Given the description of an element on the screen output the (x, y) to click on. 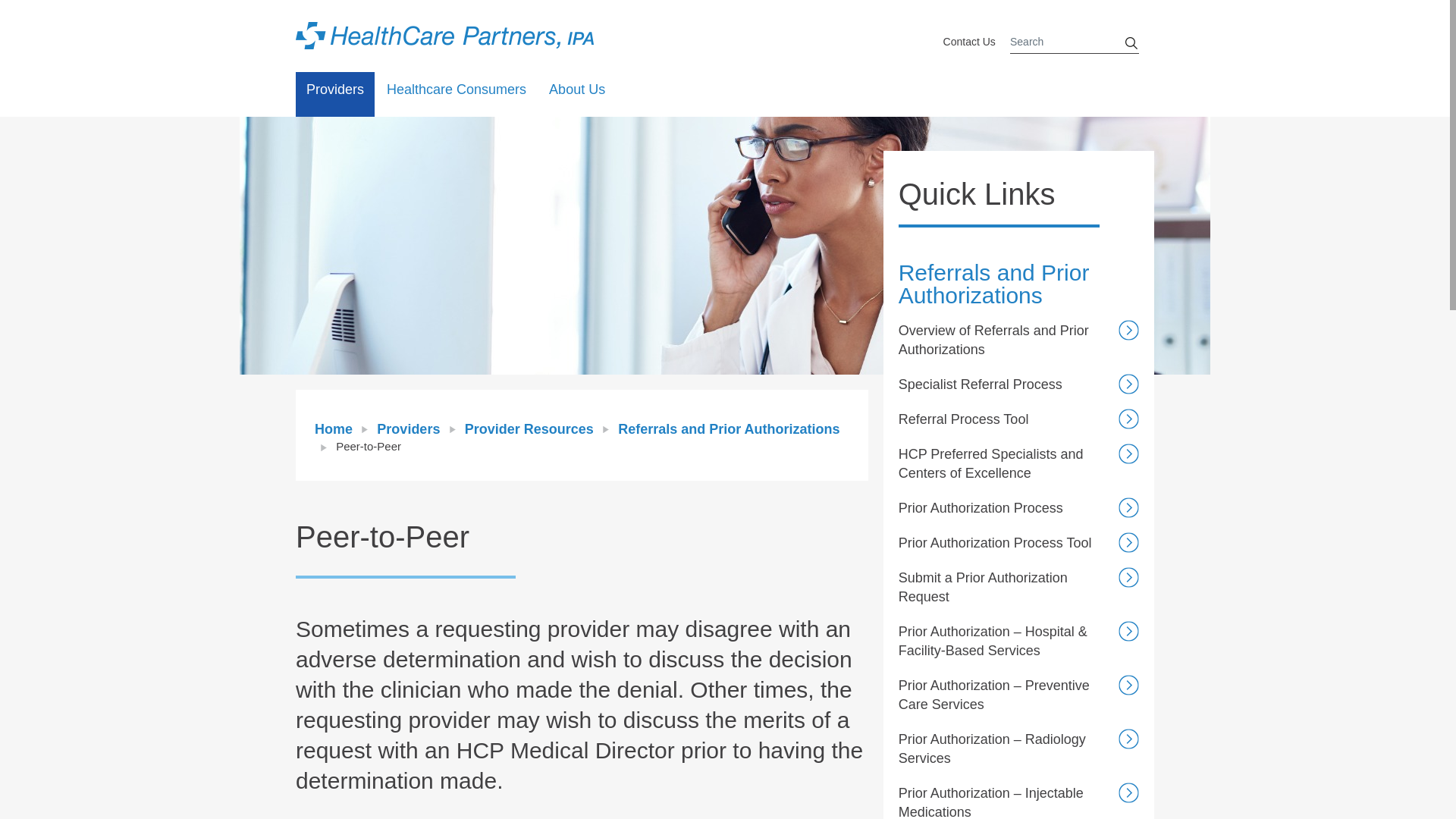
Contact Us (969, 42)
Healthcare Consumers (456, 94)
About Us (576, 94)
Providers (334, 94)
